Given the description of an element on the screen output the (x, y) to click on. 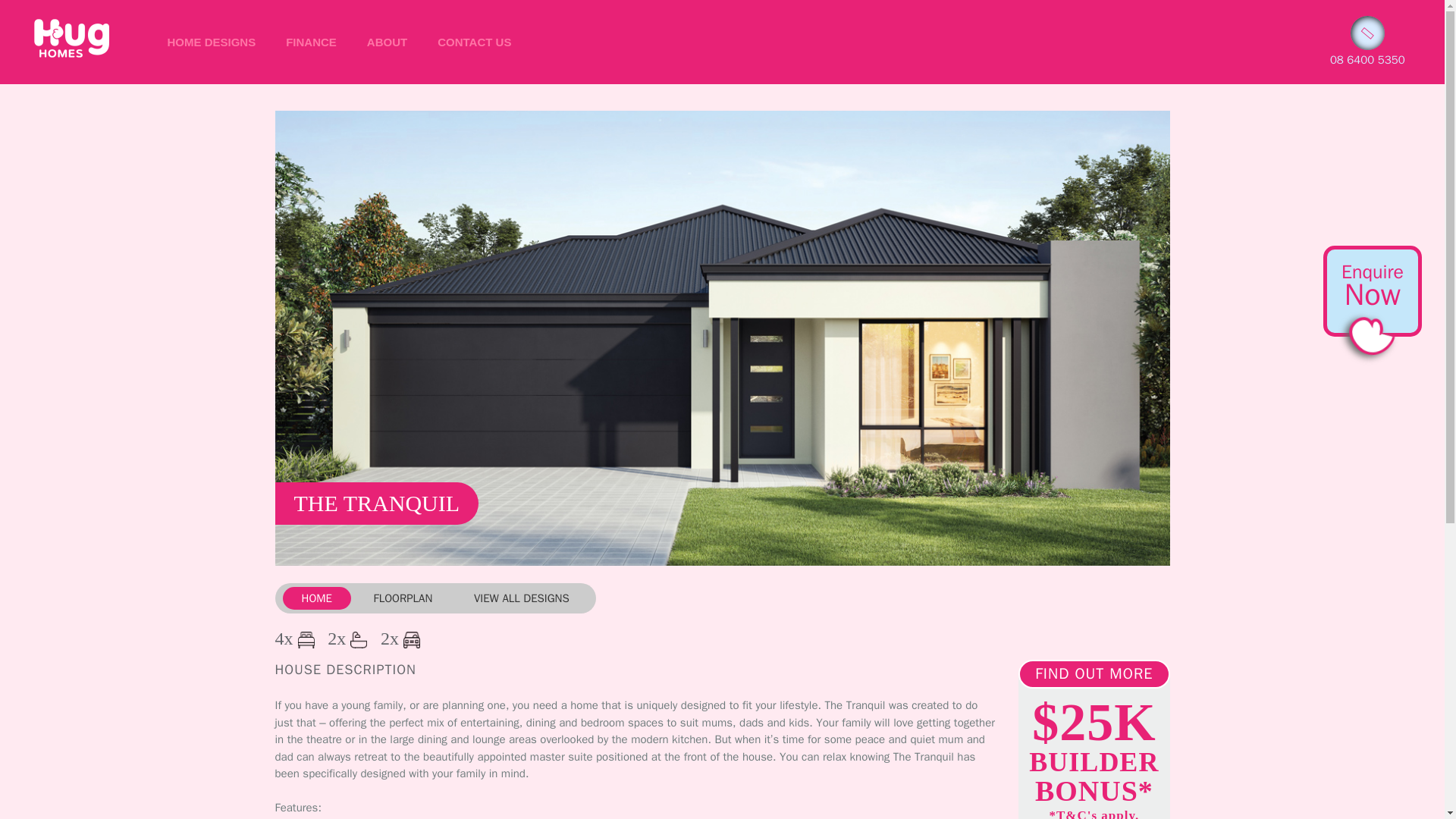
CONTACT US (473, 41)
VIEW ALL DESIGNS (521, 598)
ABOUT (387, 41)
Enquire Now (1372, 285)
HOME DESIGNS (210, 41)
08 6400 5350 (1367, 59)
logo-hughomes.png (71, 37)
FINANCE (311, 41)
FIND OUT MORE (1093, 674)
